Given the description of an element on the screen output the (x, y) to click on. 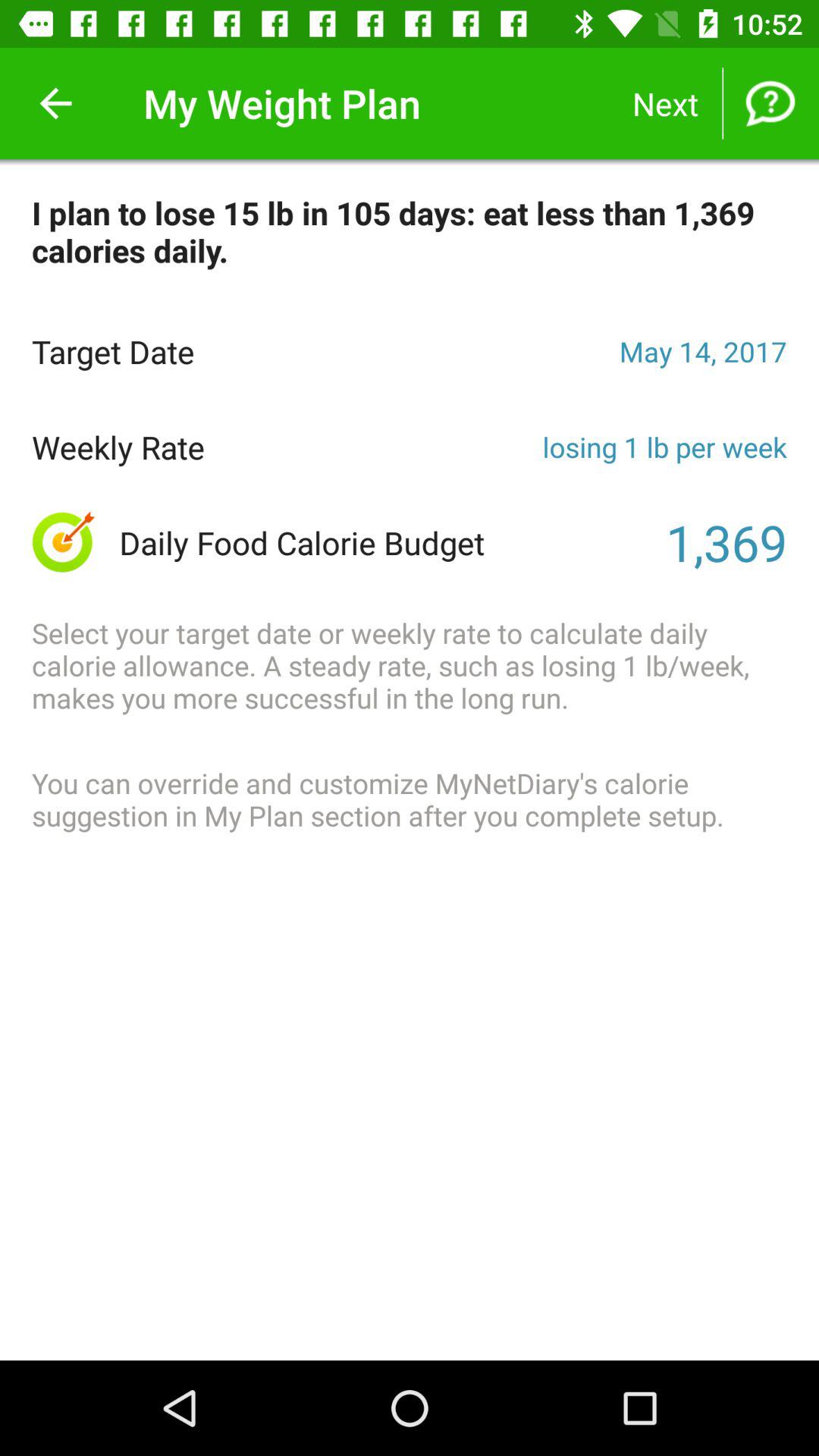
open item to the left of the my weight plan icon (55, 103)
